Given the description of an element on the screen output the (x, y) to click on. 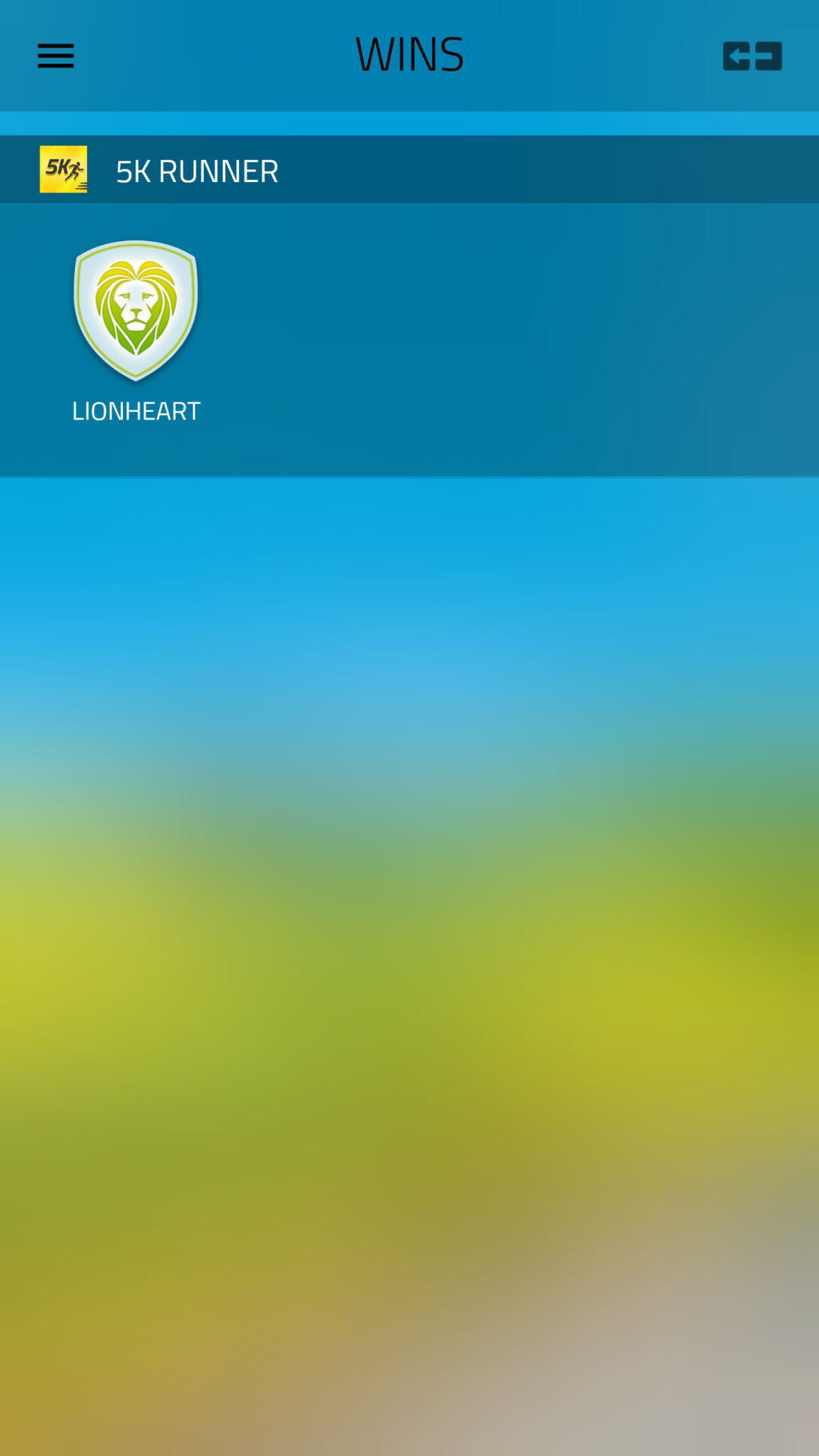
launch 5k runner item (335, 169)
